Given the description of an element on the screen output the (x, y) to click on. 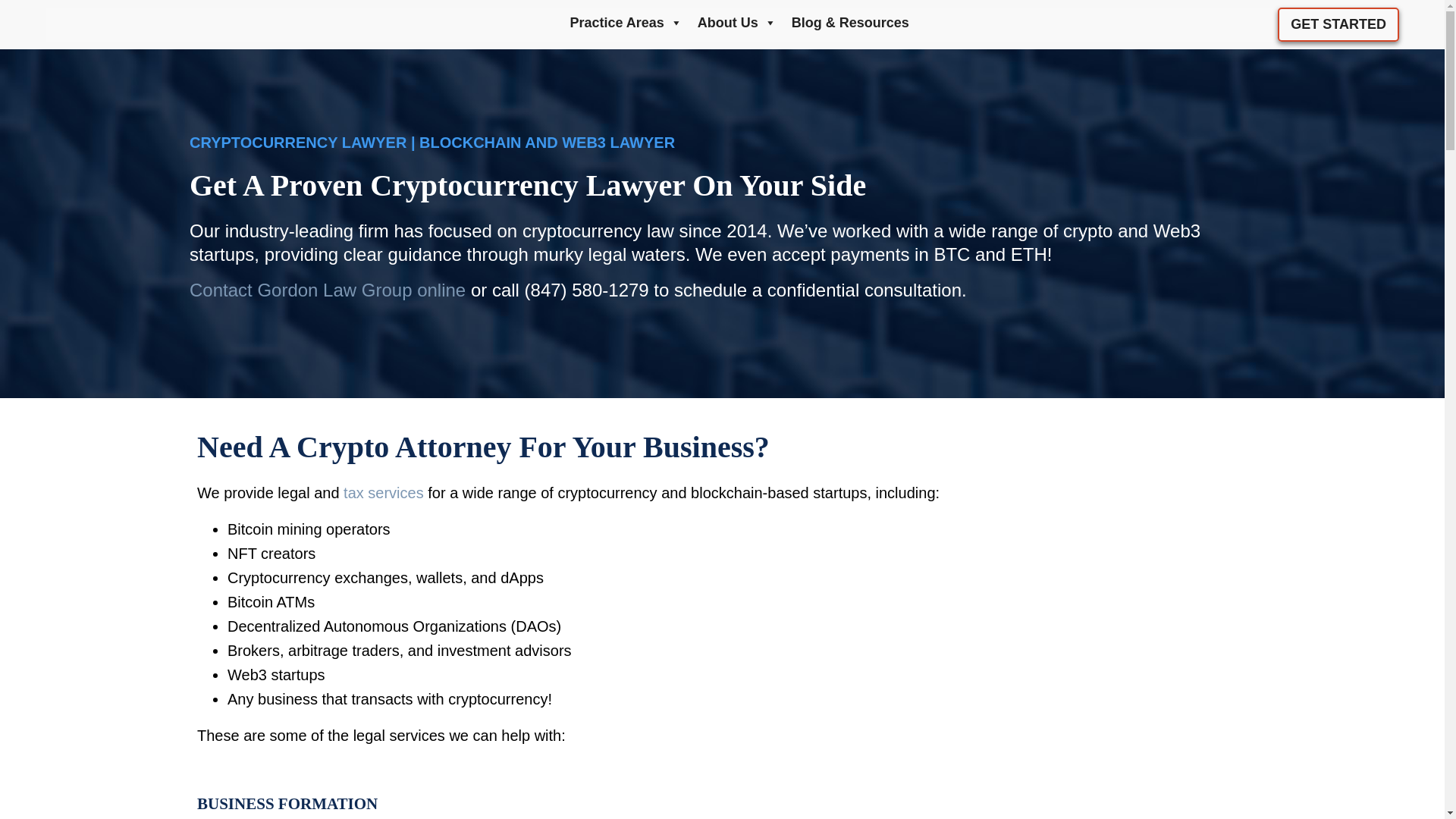
About Us (737, 24)
Practice Areas (625, 24)
GET STARTED (1338, 24)
